Given the description of an element on the screen output the (x, y) to click on. 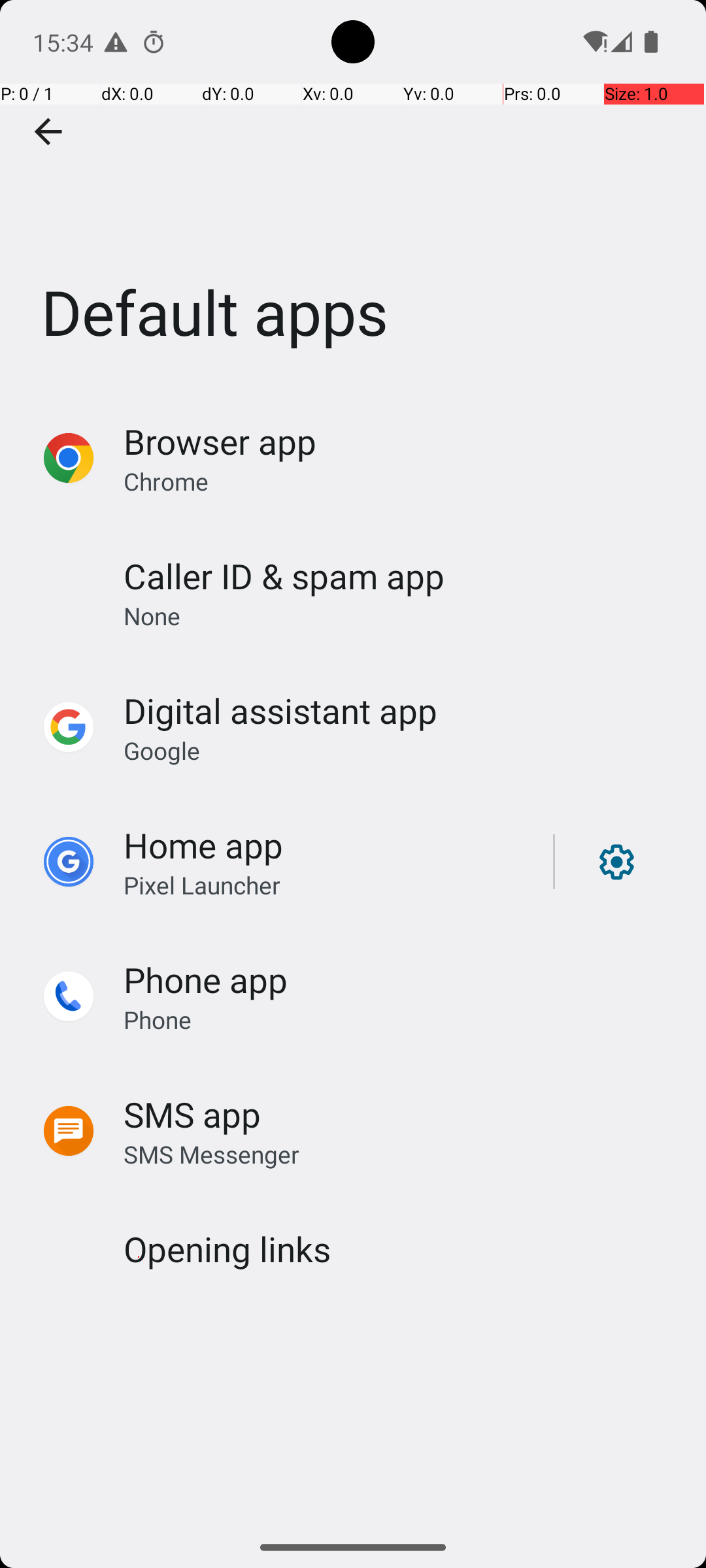
Default apps Element type: android.widget.FrameLayout (353, 195)
Browser app Element type: android.widget.TextView (220, 441)
Caller ID & spam app Element type: android.widget.TextView (283, 575)
Digital assistant app Element type: android.widget.TextView (280, 710)
Google Element type: android.widget.TextView (161, 750)
Home app Element type: android.widget.TextView (203, 844)
Pixel Launcher Element type: android.widget.TextView (201, 884)
Phone app Element type: android.widget.TextView (205, 979)
SMS app Element type: android.widget.TextView (191, 1114)
Opening links Element type: android.widget.TextView (226, 1248)
Android System notification:  Element type: android.widget.ImageView (115, 41)
